Given the description of an element on the screen output the (x, y) to click on. 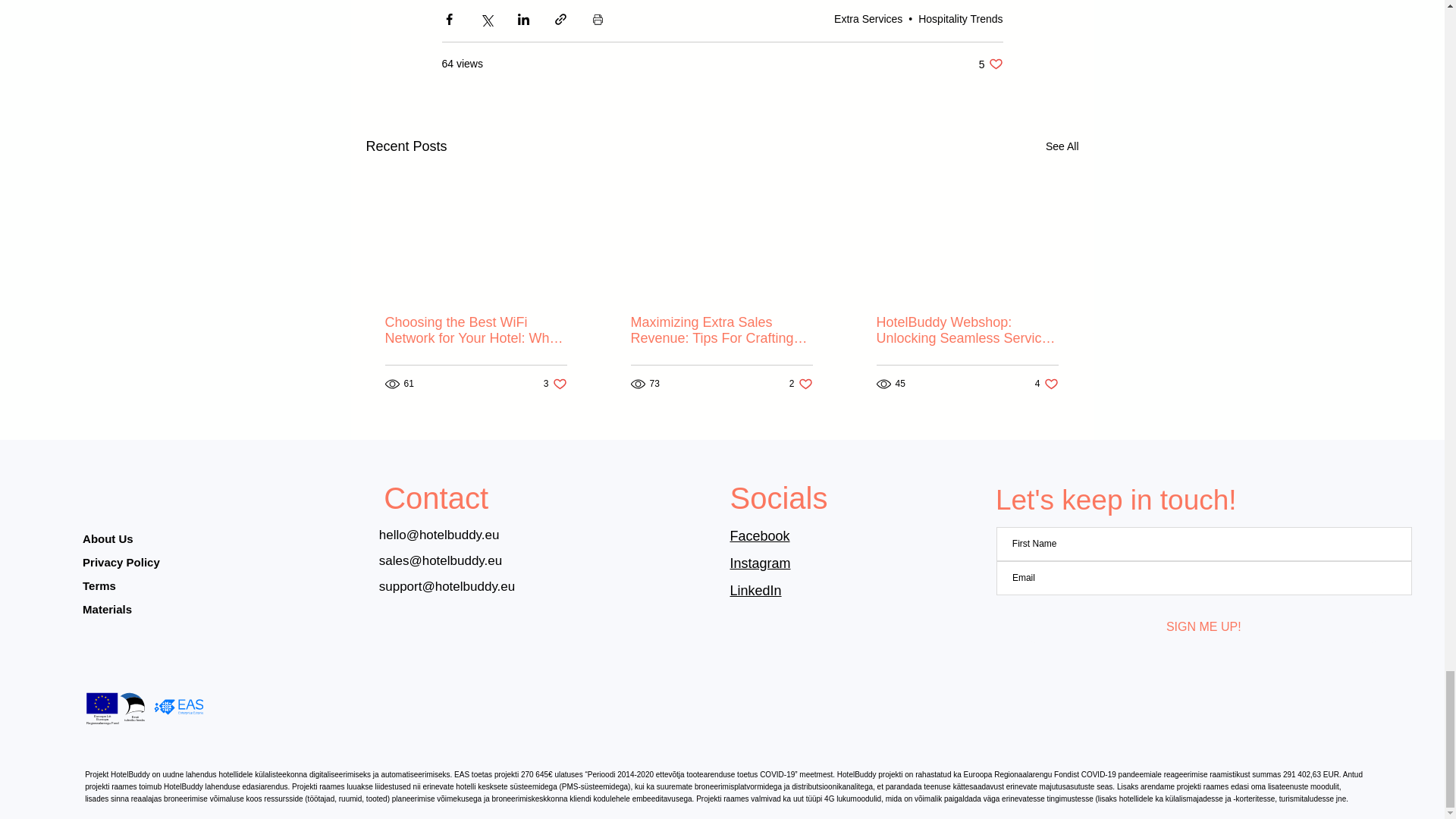
Extra Services (868, 19)
See All (990, 63)
Hospitality Trends (1061, 146)
